Given the description of an element on the screen output the (x, y) to click on. 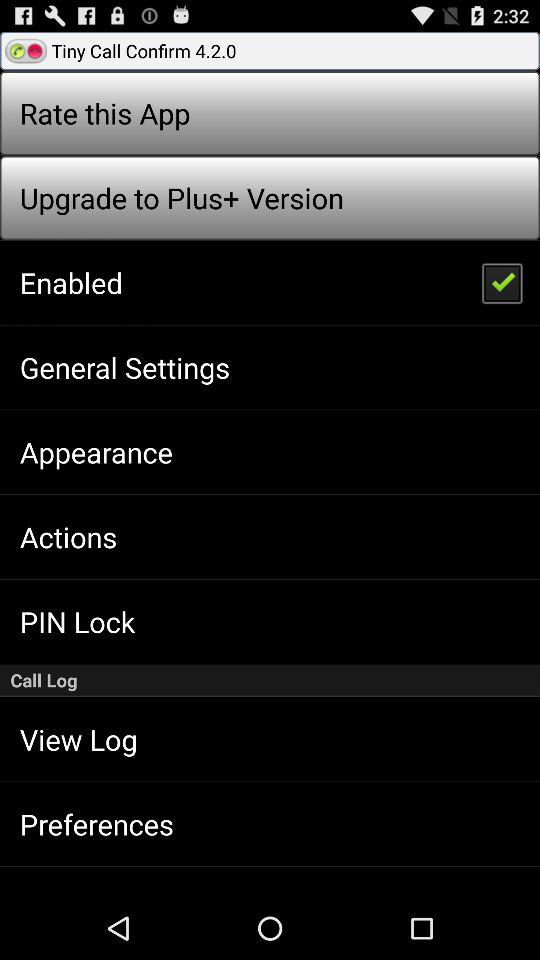
launch icon next to enabled item (501, 282)
